Given the description of an element on the screen output the (x, y) to click on. 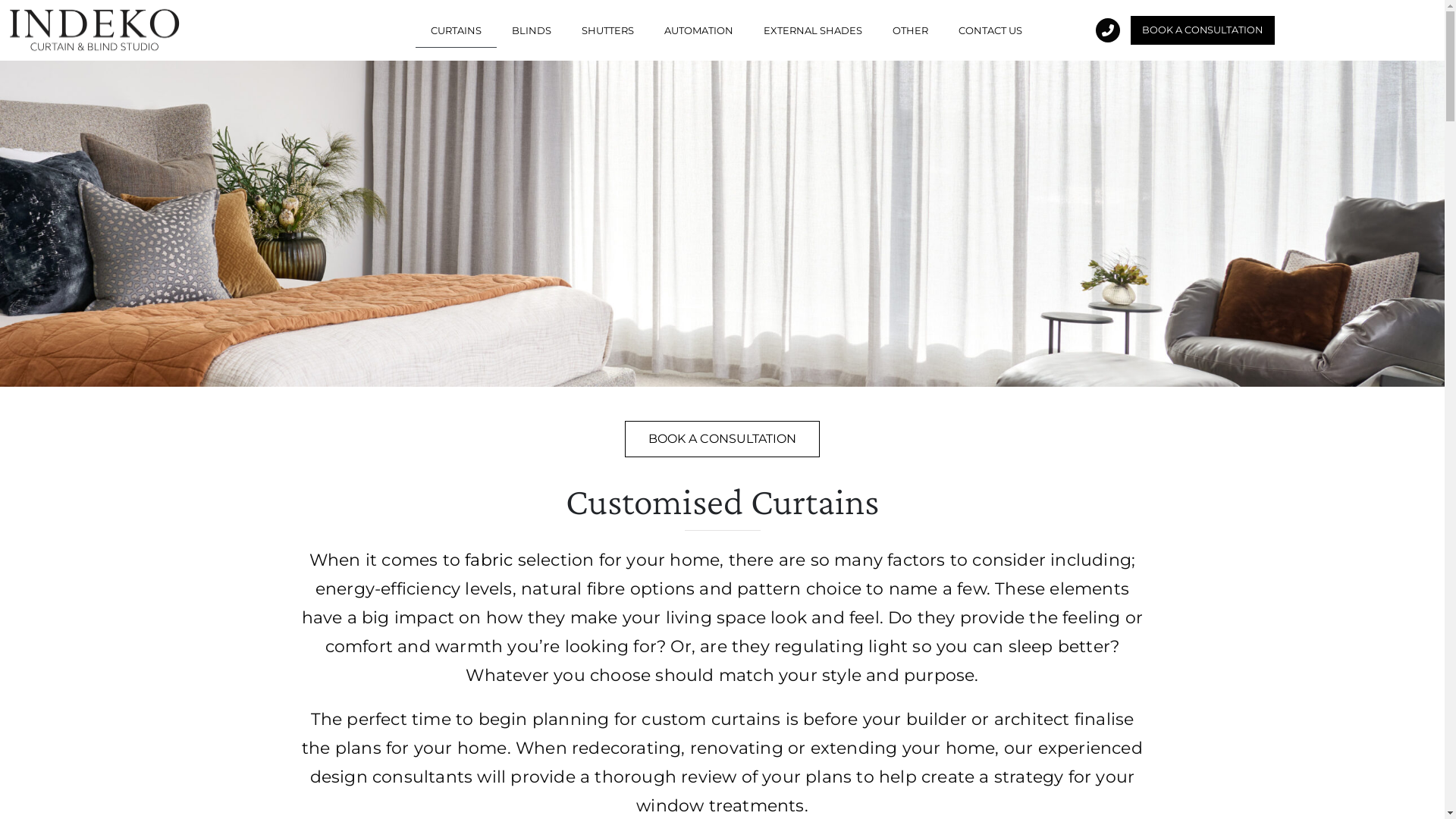
EXTERNAL SHADES Element type: text (812, 29)
fabric Element type: text (488, 559)
BOOK A CONSULTATION Element type: text (1202, 29)
AUTOMATION Element type: text (698, 29)
BOOK A CONSULTATION Element type: text (721, 438)
BLINDS Element type: text (531, 29)
SHUTTERS Element type: text (607, 29)
CURTAINS Element type: text (455, 29)
OTHER Element type: text (910, 29)
CONTACT US Element type: text (990, 29)
Indeko - Curtain & Blind Studio Element type: hover (94, 30)
